Given the description of an element on the screen output the (x, y) to click on. 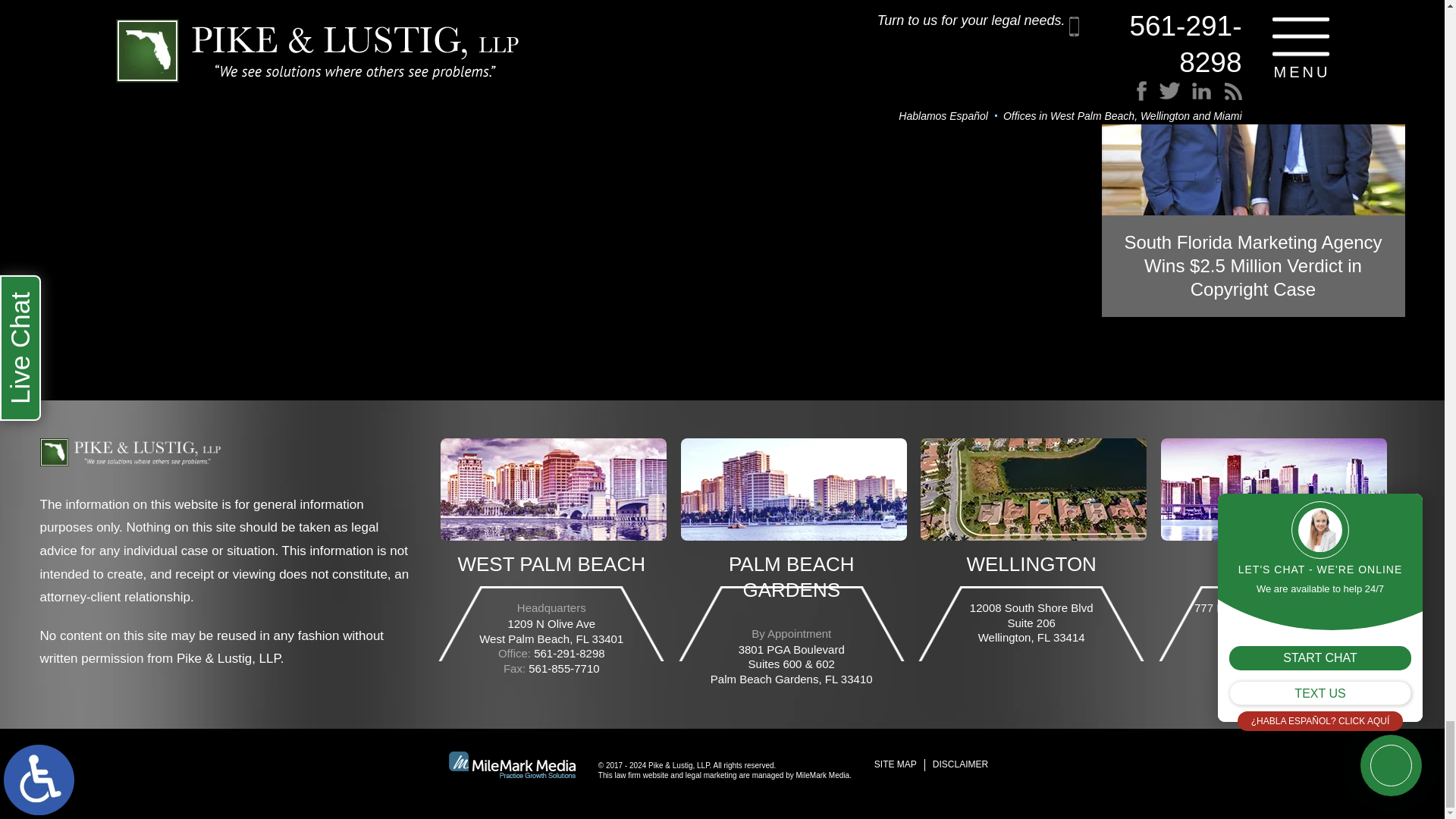
West Palm Beach (553, 489)
Palm Beach Gardens (794, 489)
Miami (1273, 489)
Wellington (1033, 489)
West Palm Beach Business Attorney (129, 458)
MileMark Media (511, 764)
